Given the description of an element on the screen output the (x, y) to click on. 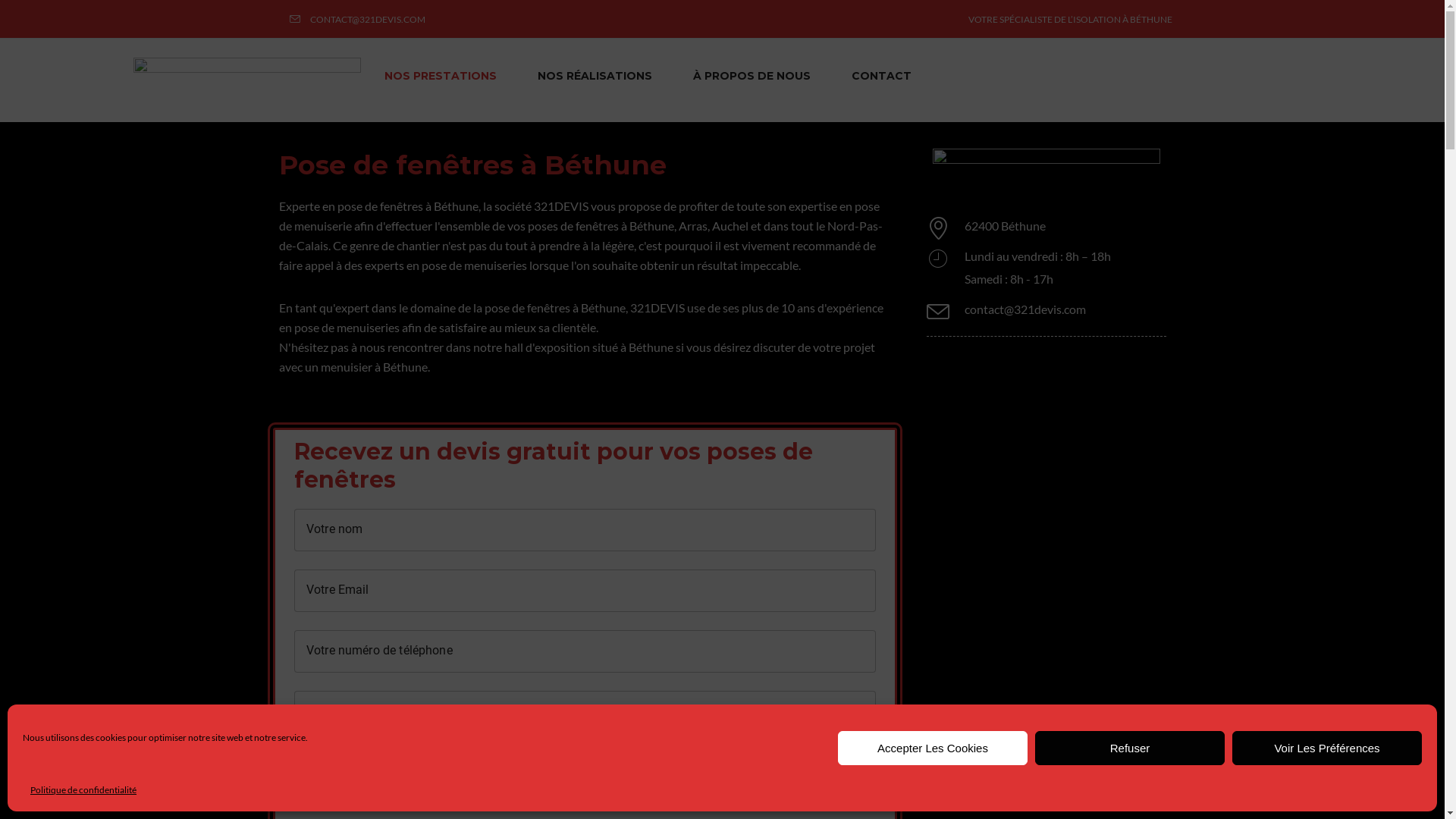
NOS PRESTATIONS Element type: text (440, 75)
CONTACT Element type: text (881, 75)
Refuser Element type: text (1129, 748)
CONTACT@321DEVIS.COM Element type: text (356, 19)
Accepter Les Cookies Element type: text (932, 748)
